Given the description of an element on the screen output the (x, y) to click on. 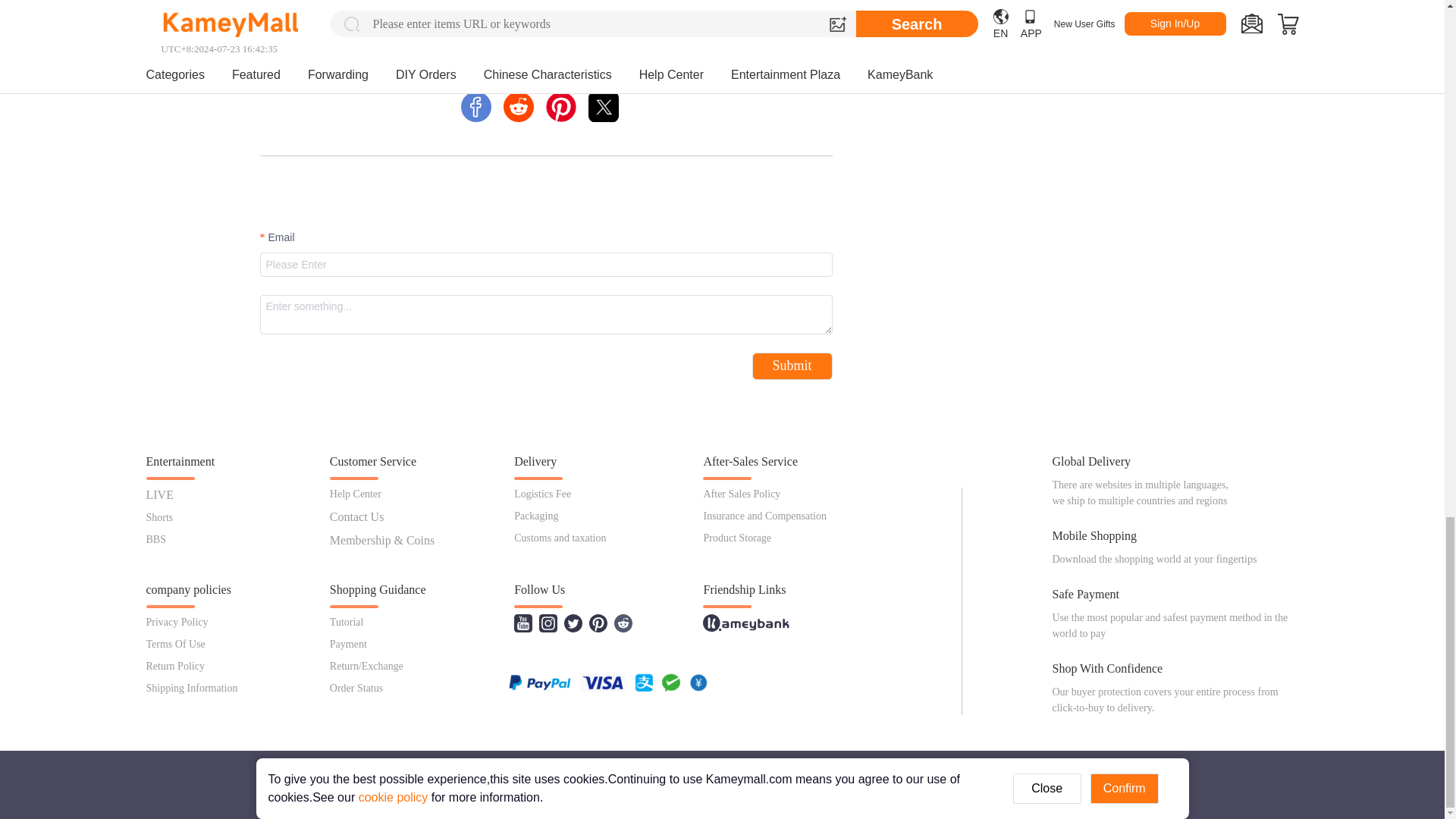
Created with Pixso. (603, 106)
Submit (792, 366)
2022 (545, 68)
